Given the description of an element on the screen output the (x, y) to click on. 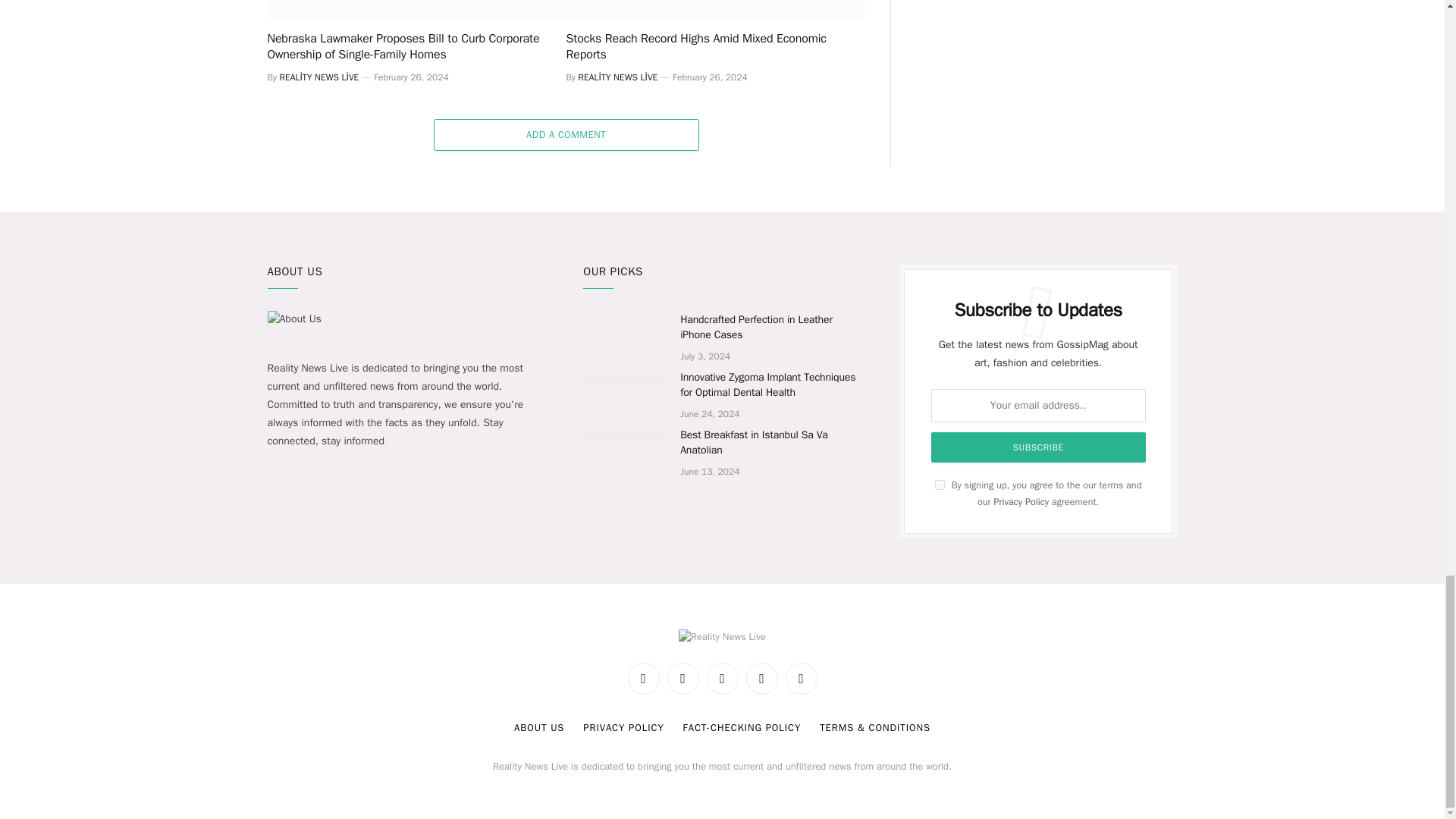
on (939, 484)
Subscribe (1038, 447)
